Given the description of an element on the screen output the (x, y) to click on. 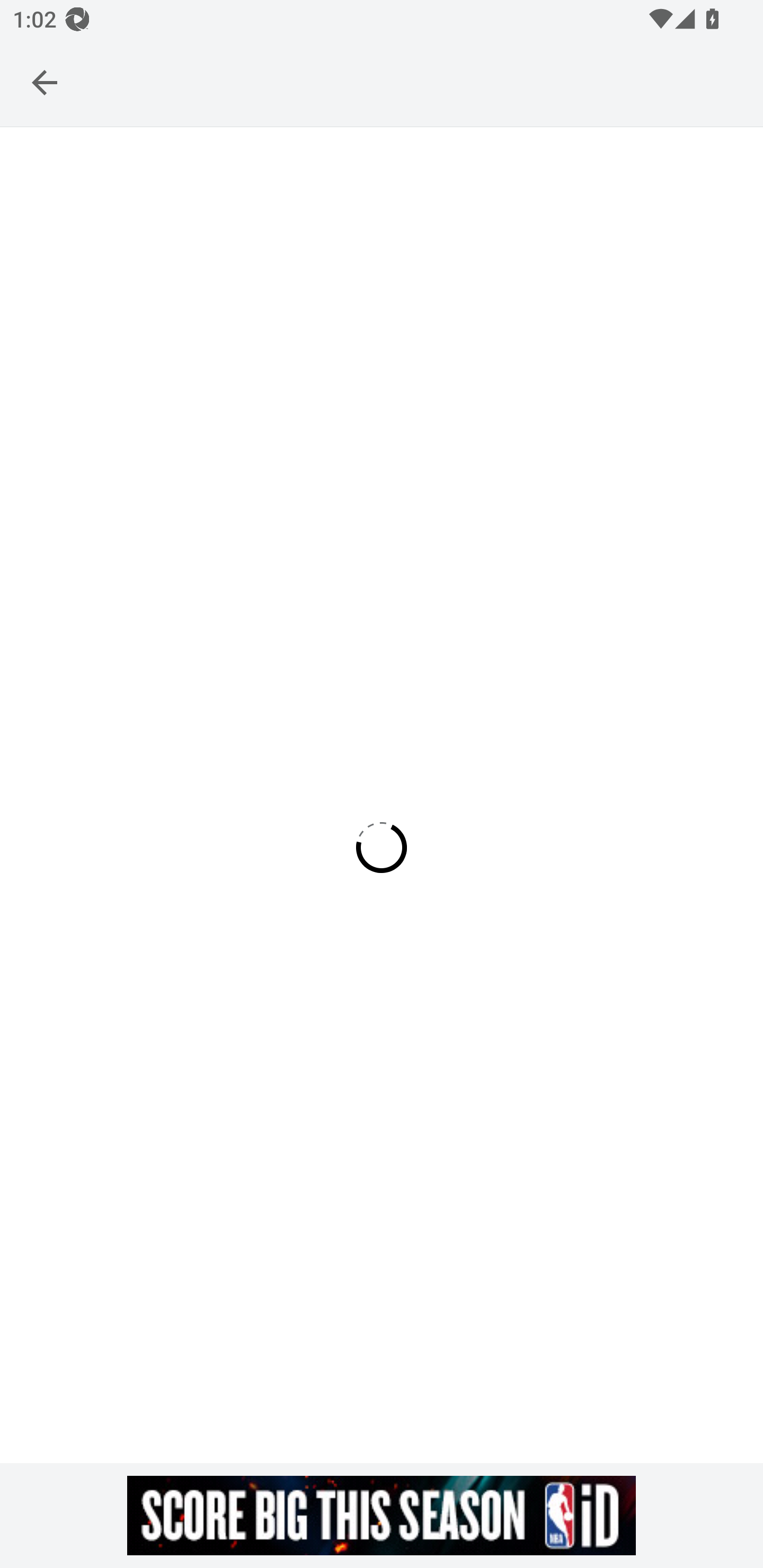
Navigate up (44, 82)
